Given the description of an element on the screen output the (x, y) to click on. 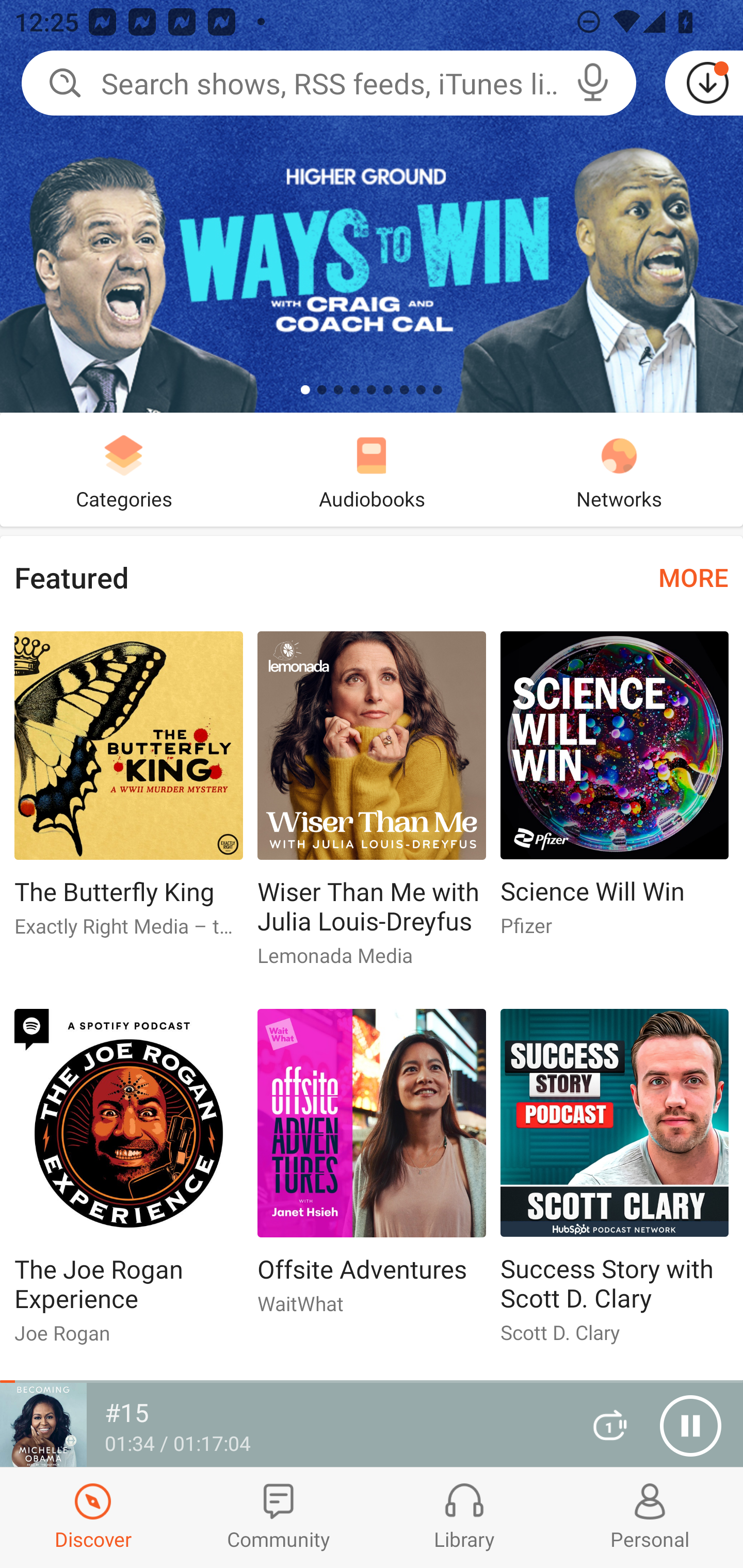
Ways To Win (371, 206)
Categories (123, 469)
Audiobooks (371, 469)
Networks (619, 469)
MORE (693, 576)
Science Will Win Science Will Win Pfizer (614, 792)
Offsite Adventures Offsite Adventures WaitWhat (371, 1169)
#15 01:33 / 01:17:04 (283, 1424)
Pause (690, 1425)
Discover (92, 1517)
Community (278, 1517)
Library (464, 1517)
Profiles and Settings Personal (650, 1517)
